Given the description of an element on the screen output the (x, y) to click on. 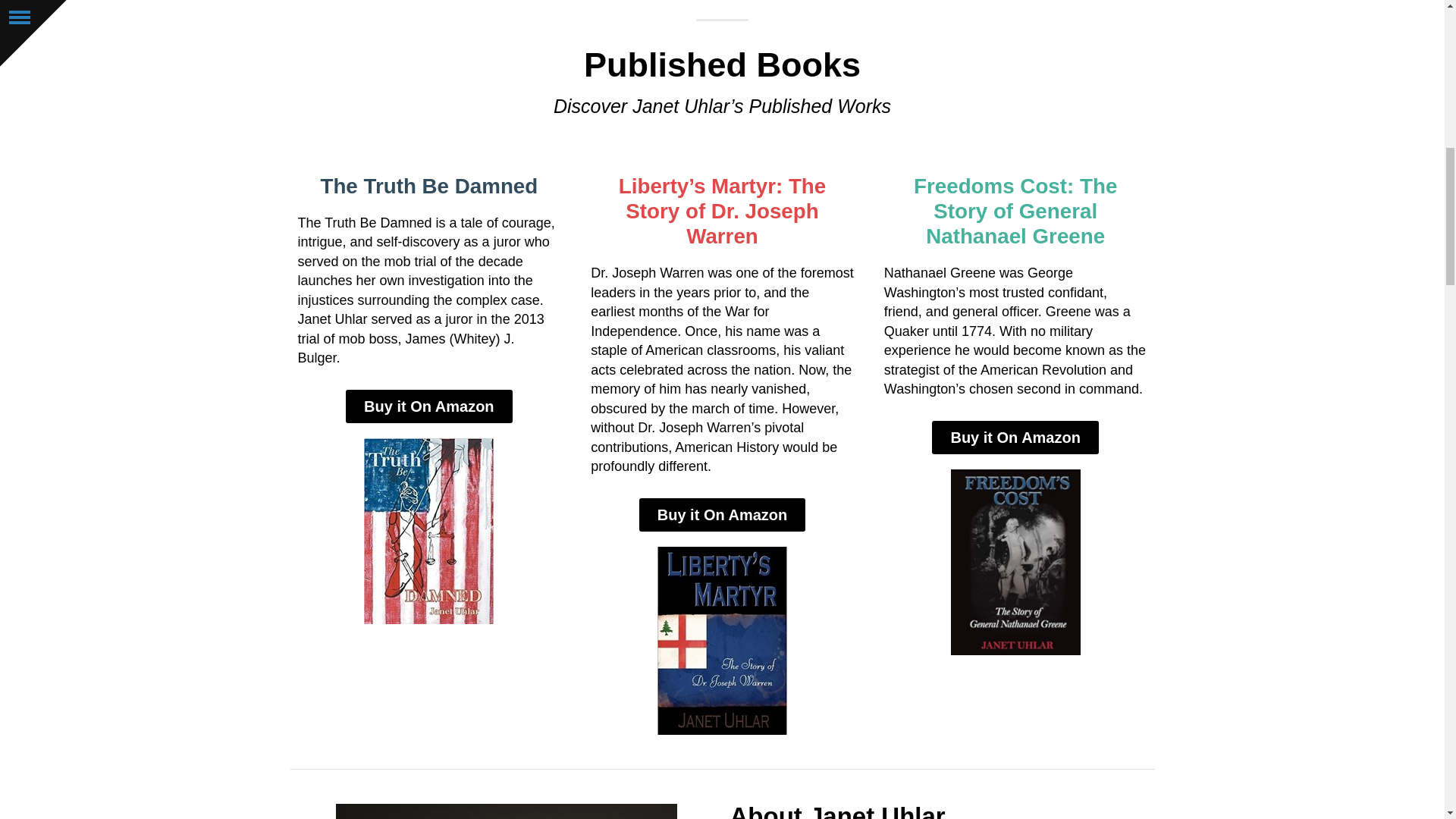
Buy it On Amazon (722, 514)
Buy it On Amazon (1014, 437)
Buy it On Amazon (429, 406)
